Given the description of an element on the screen output the (x, y) to click on. 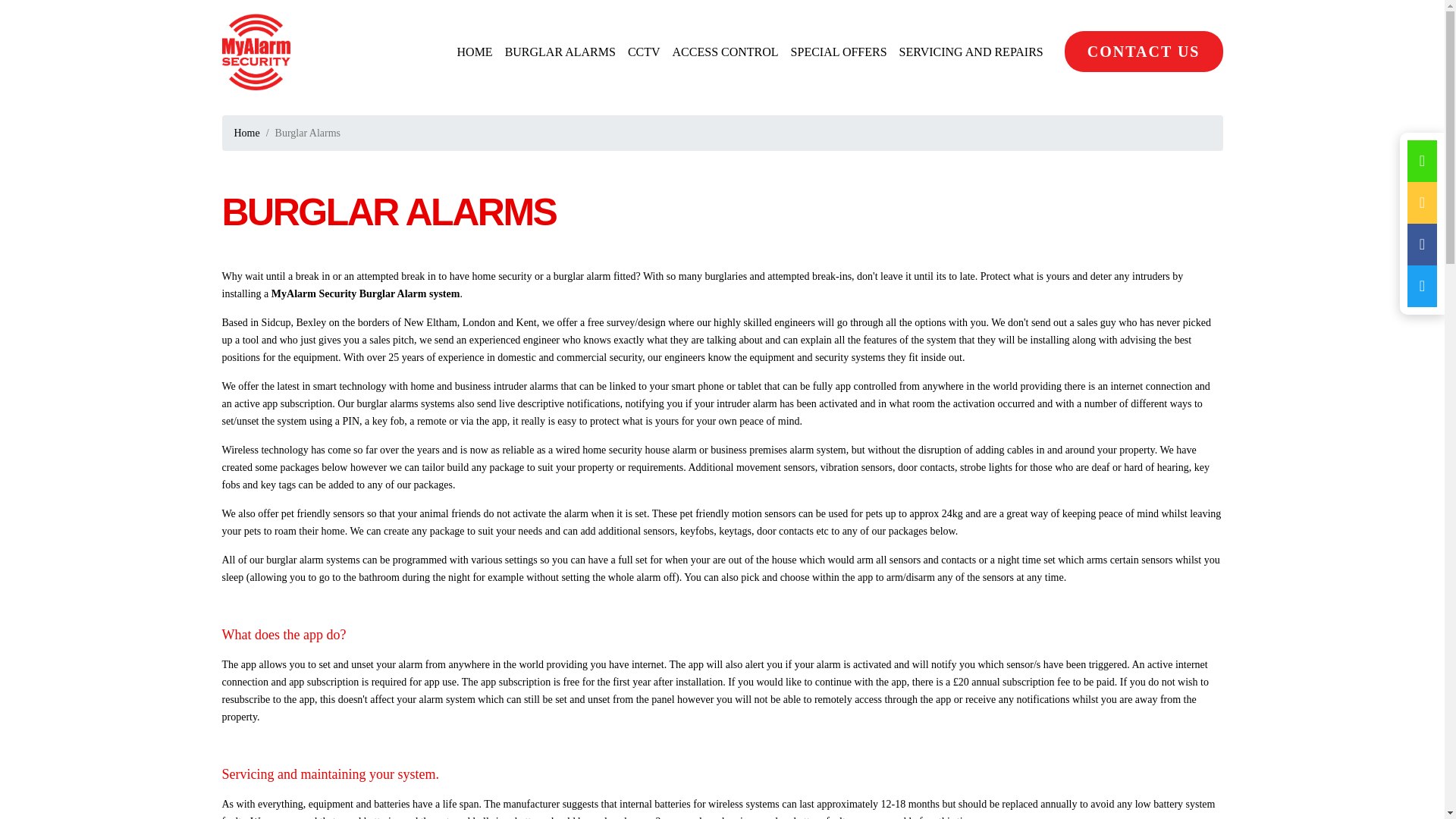
SPECIAL OFFERS (838, 51)
CCTV (643, 51)
strobe lights (985, 467)
Home (245, 132)
Bexley (312, 322)
BURGLAR ALARMS (560, 51)
CONTACT US (1143, 51)
ACCESS CONTROL (725, 51)
SERVICING AND REPAIRS (971, 51)
